Given the description of an element on the screen output the (x, y) to click on. 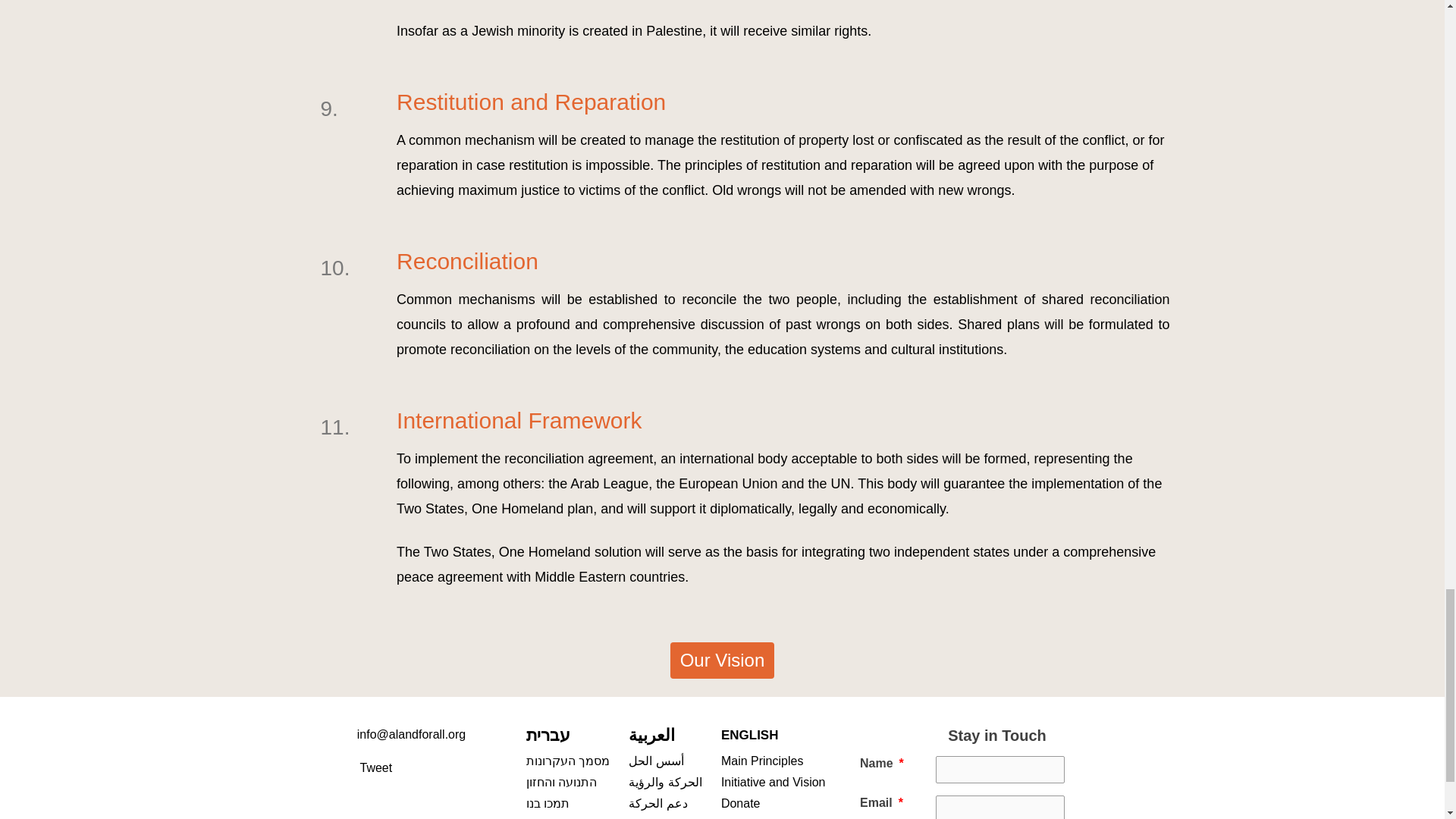
Our Vision (721, 660)
Tweet (375, 767)
